Given the description of an element on the screen output the (x, y) to click on. 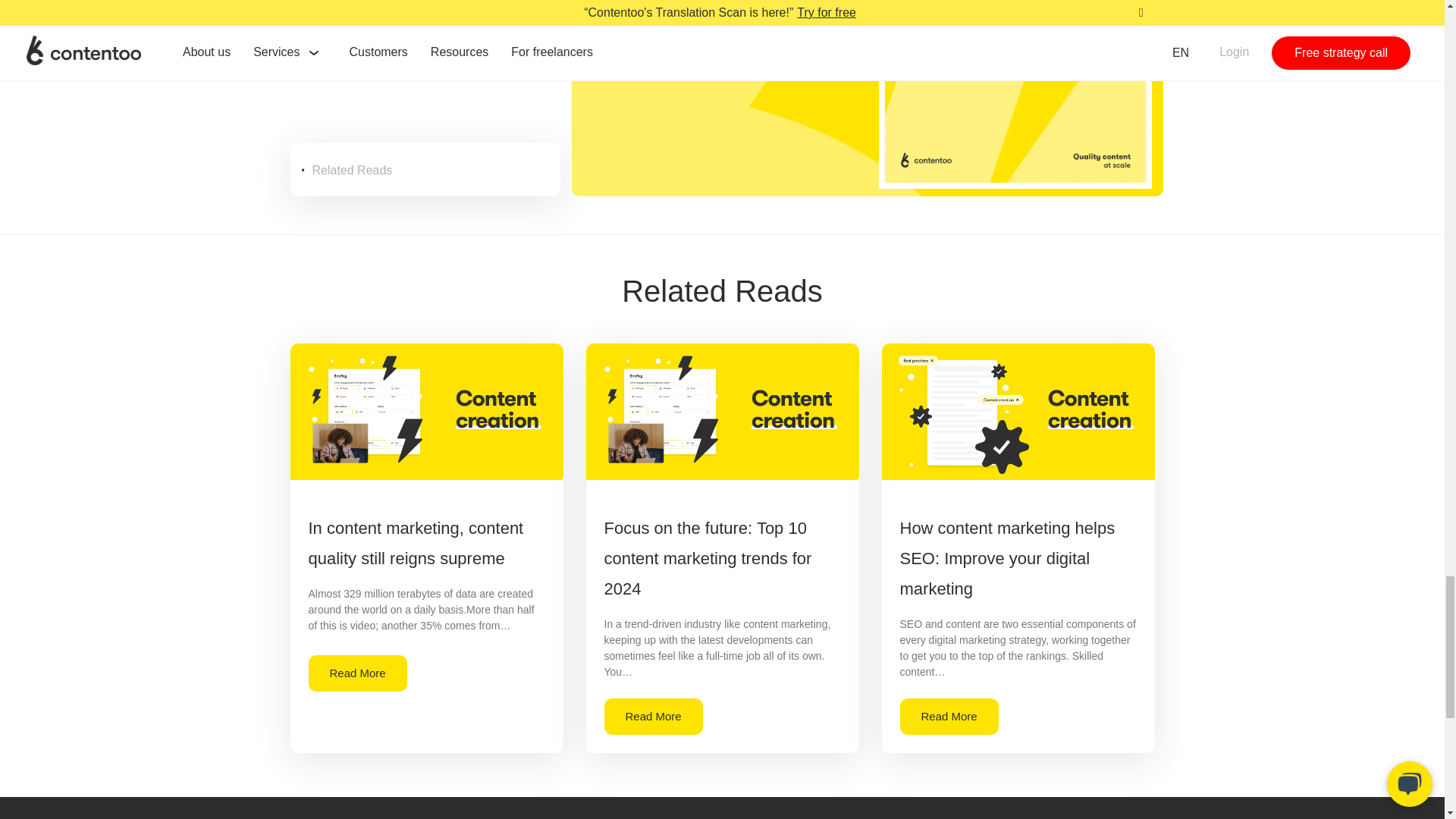
Read More (356, 673)
Read More (948, 716)
Read More (652, 716)
In content marketing, content quality still reigns supreme (414, 543)
Read the report (645, 39)
